Given the description of an element on the screen output the (x, y) to click on. 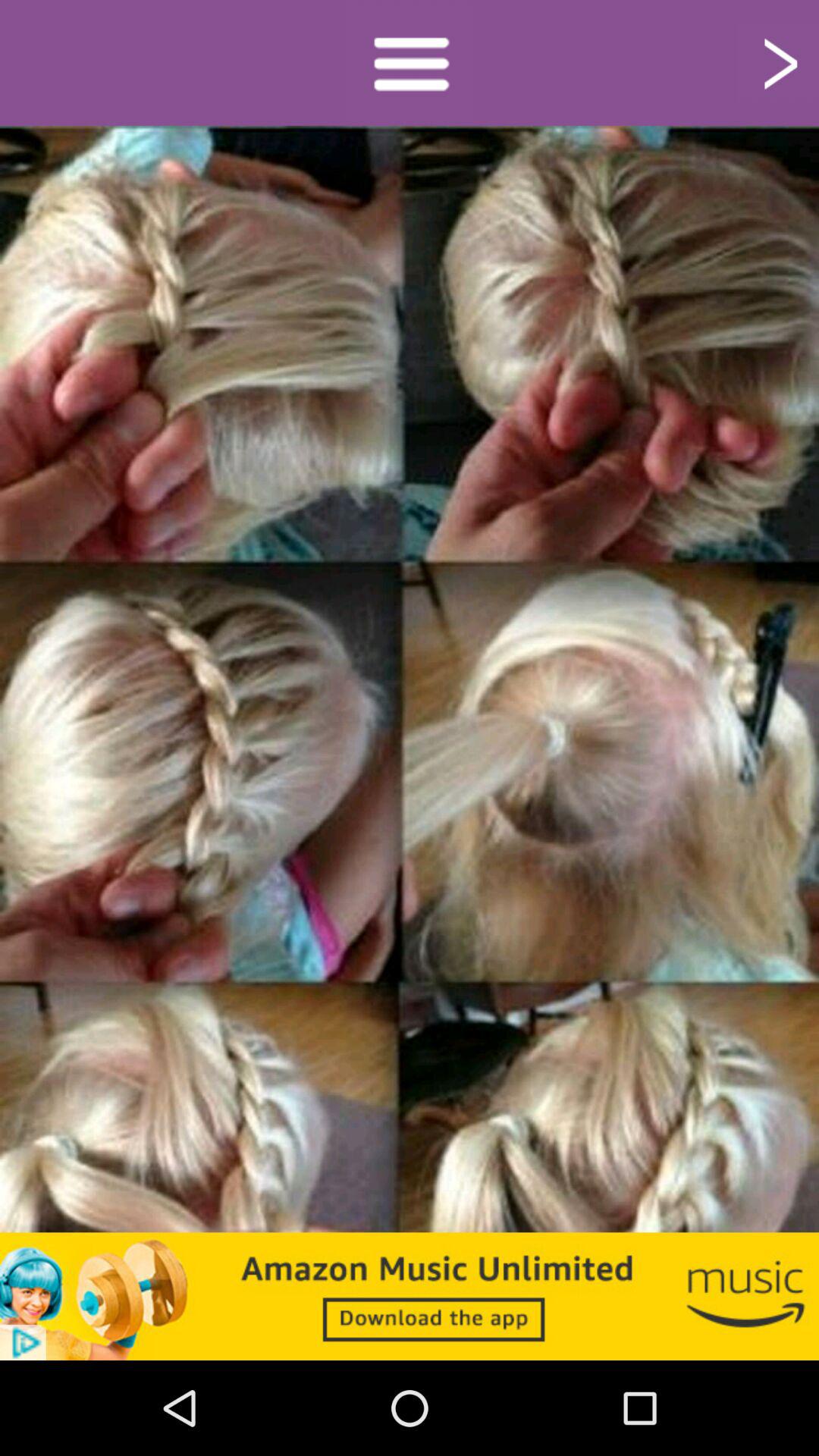
options drop down (409, 62)
